Given the description of an element on the screen output the (x, y) to click on. 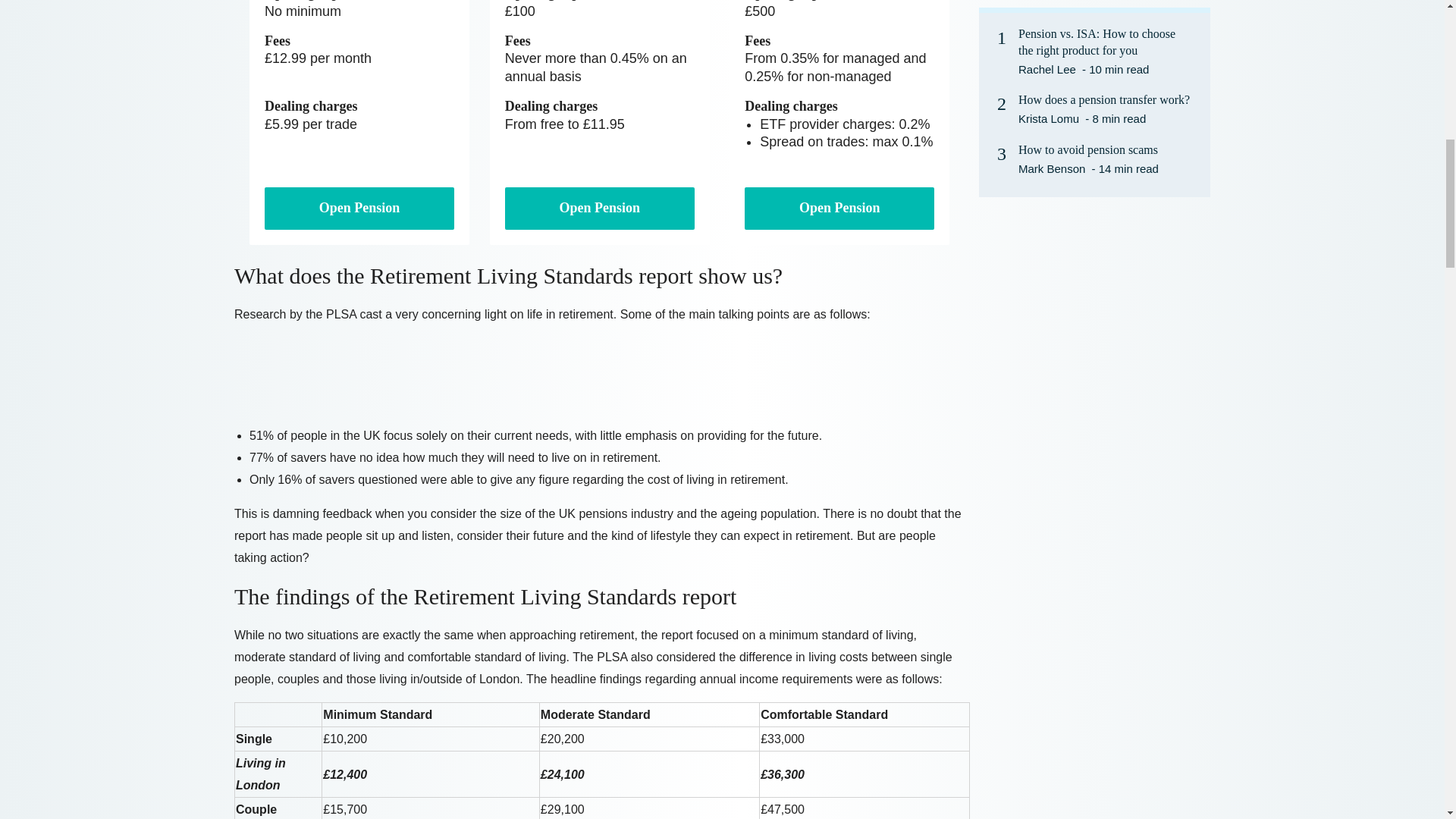
Open Pension (599, 208)
Open Pension (359, 208)
Open Pension (839, 208)
